Given the description of an element on the screen output the (x, y) to click on. 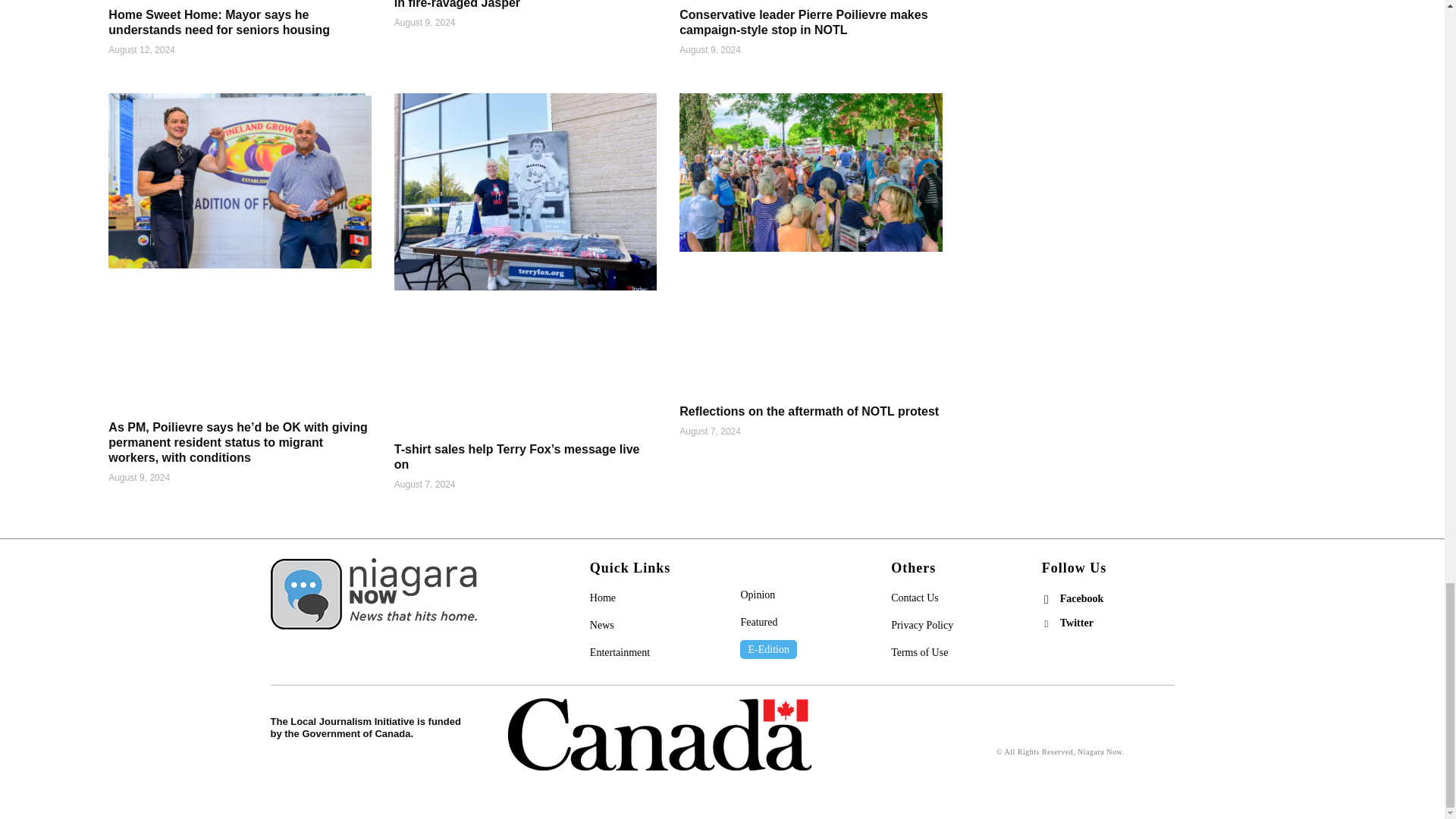
Twitter (1045, 623)
Canada (659, 734)
Facebook (1045, 599)
